Given the description of an element on the screen output the (x, y) to click on. 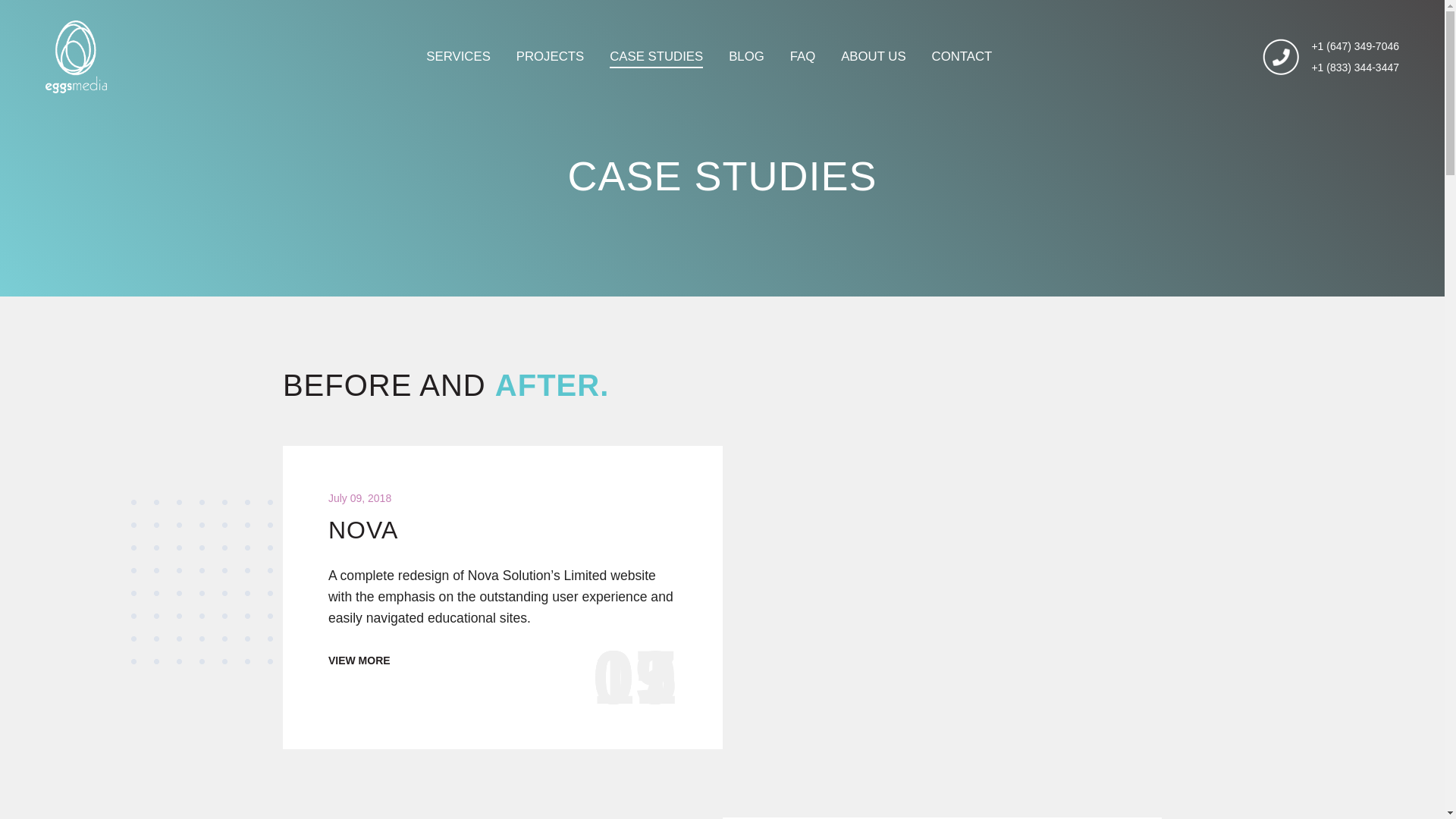
SERVICES (458, 67)
PROJECTS (550, 67)
VIEW MORE (359, 660)
ABOUT US (873, 67)
CASE STUDIES (656, 67)
Eggs Media (247, 581)
BLOG (746, 67)
CONTACT (961, 67)
